Given the description of an element on the screen output the (x, y) to click on. 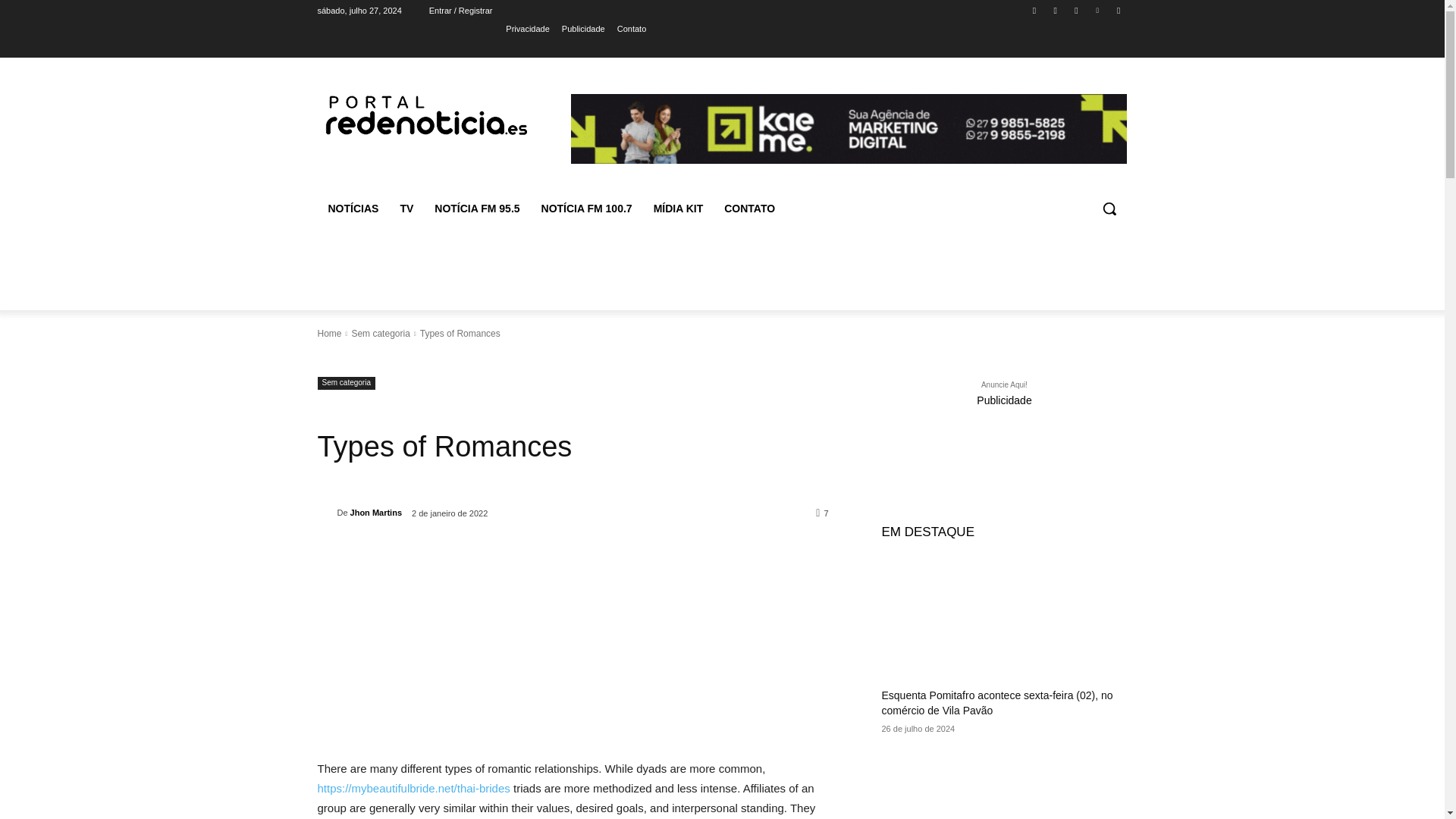
Publicidade (583, 28)
Instagram (1055, 9)
Privacidade (526, 28)
Youtube (1117, 9)
Portal Rede Noticia ES (425, 112)
Sem categoria (379, 333)
Facebook (1034, 9)
Sem categoria (345, 382)
Contato (631, 28)
Jhon Martins (375, 512)
TV (405, 208)
Home (328, 333)
Vimeo (1097, 9)
Twitter (1075, 9)
CONTATO (749, 208)
